Given the description of an element on the screen output the (x, y) to click on. 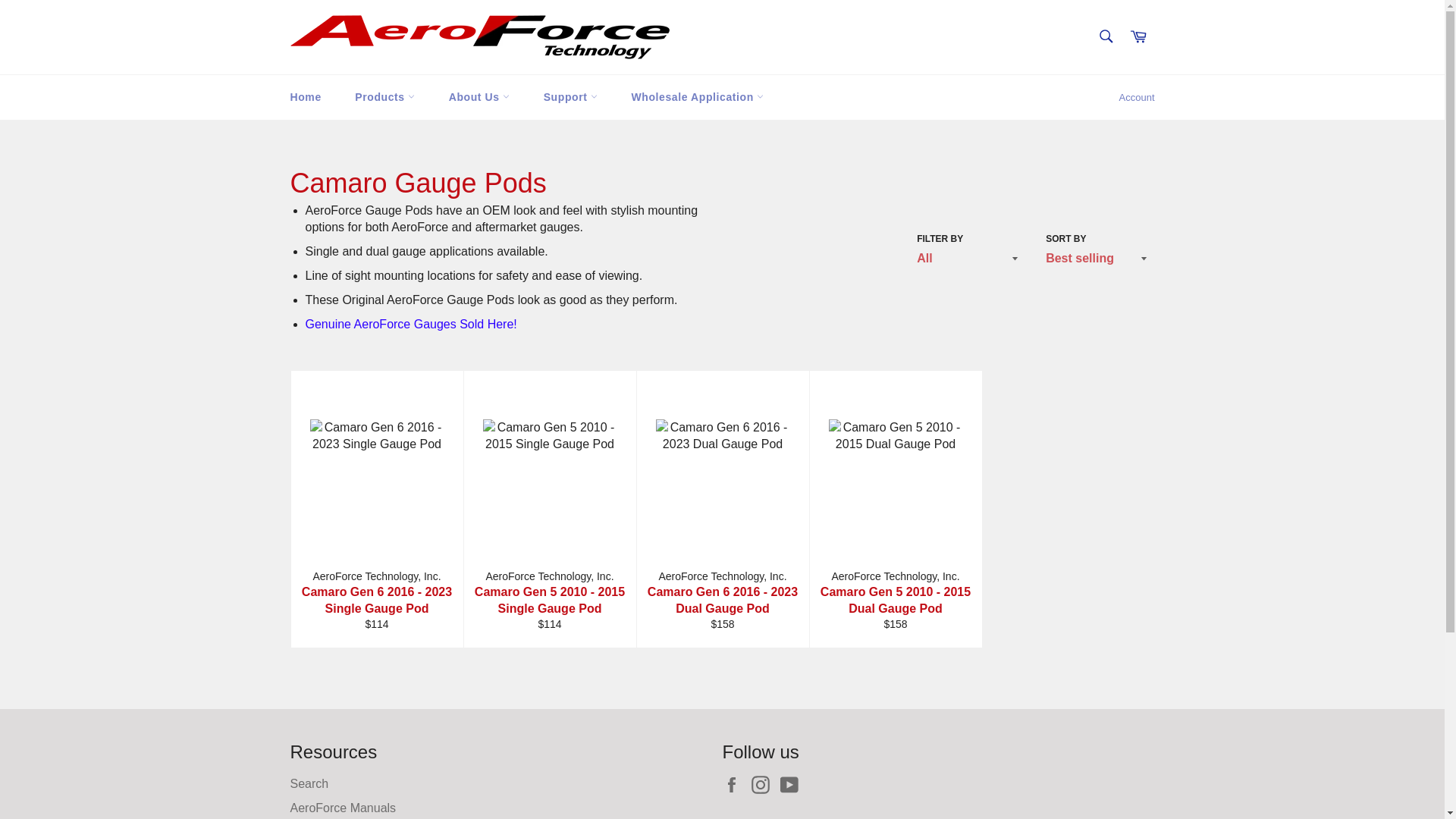
AeroForce Technology, Inc. on Facebook (735, 783)
AeroForce Gauges (410, 323)
AeroForce Technology, Inc. on Instagram (764, 783)
AeroForce Technology, Inc. on YouTube (793, 783)
